Given the description of an element on the screen output the (x, y) to click on. 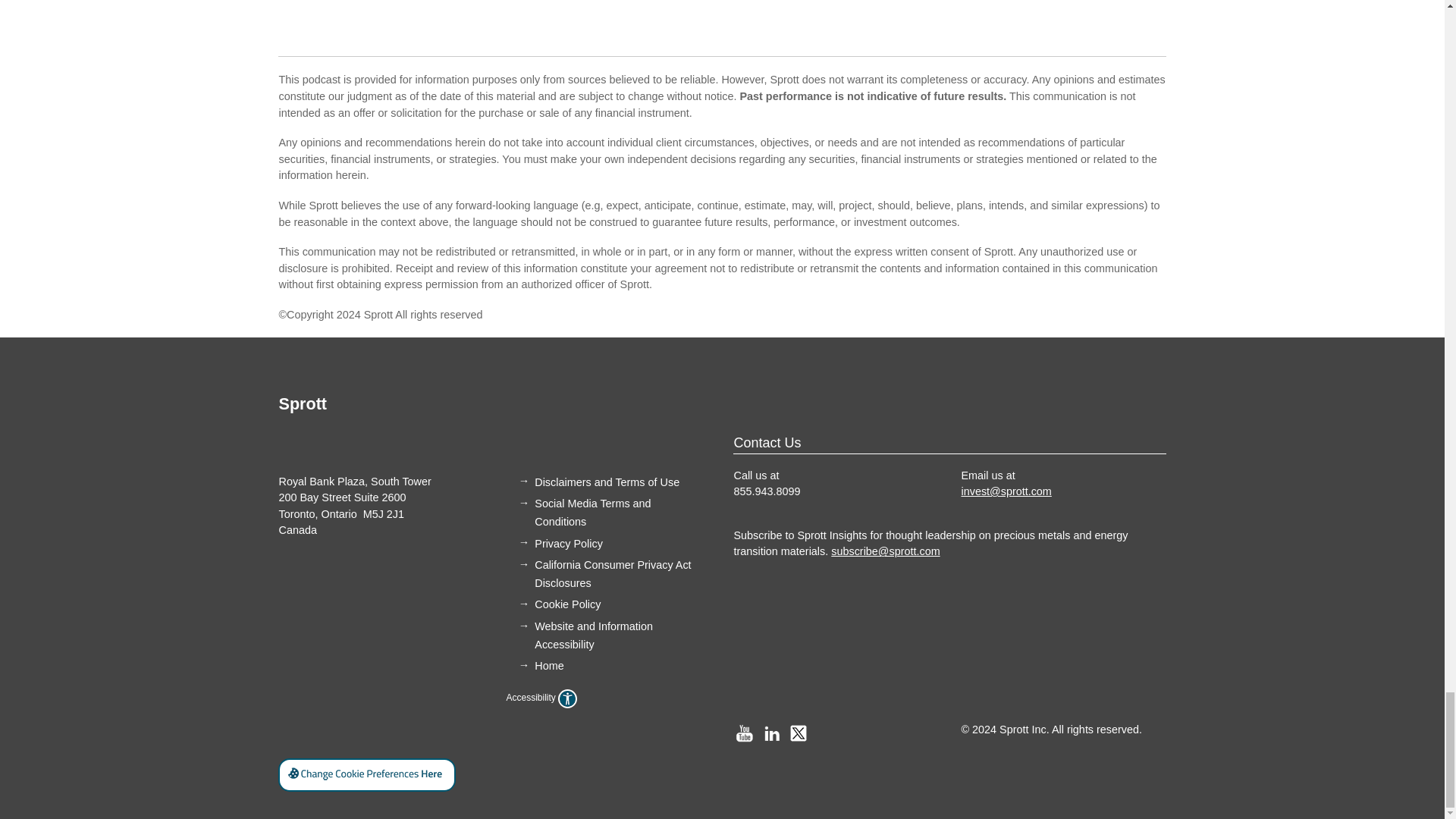
Social Media Terms and Conditions (592, 512)
Terms of Use (606, 481)
Subscribe to Sprott Insights (929, 543)
